Given the description of an element on the screen output the (x, y) to click on. 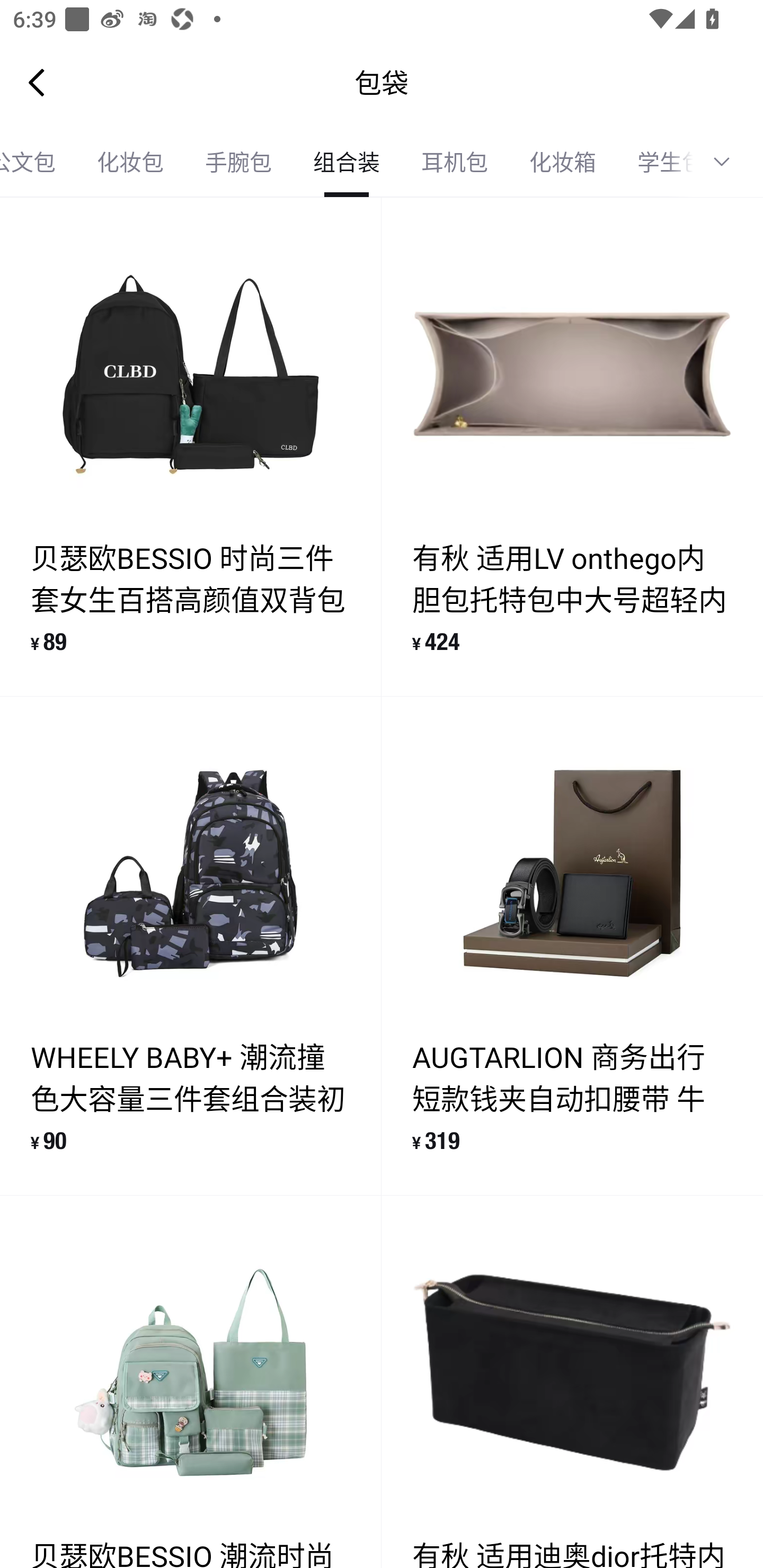
Navigate up (36, 82)
化妆包 (130, 162)
手腕包 (238, 162)
组合装 (346, 162)
耳机包 (454, 162)
化妆箱 (562, 162)
 (727, 162)
AUGTARLION 商务出行
短款钱夹自动扣腰带 牛
皮 钱包 男款 蓝色 ¥ 319 (572, 945)
